Given the description of an element on the screen output the (x, y) to click on. 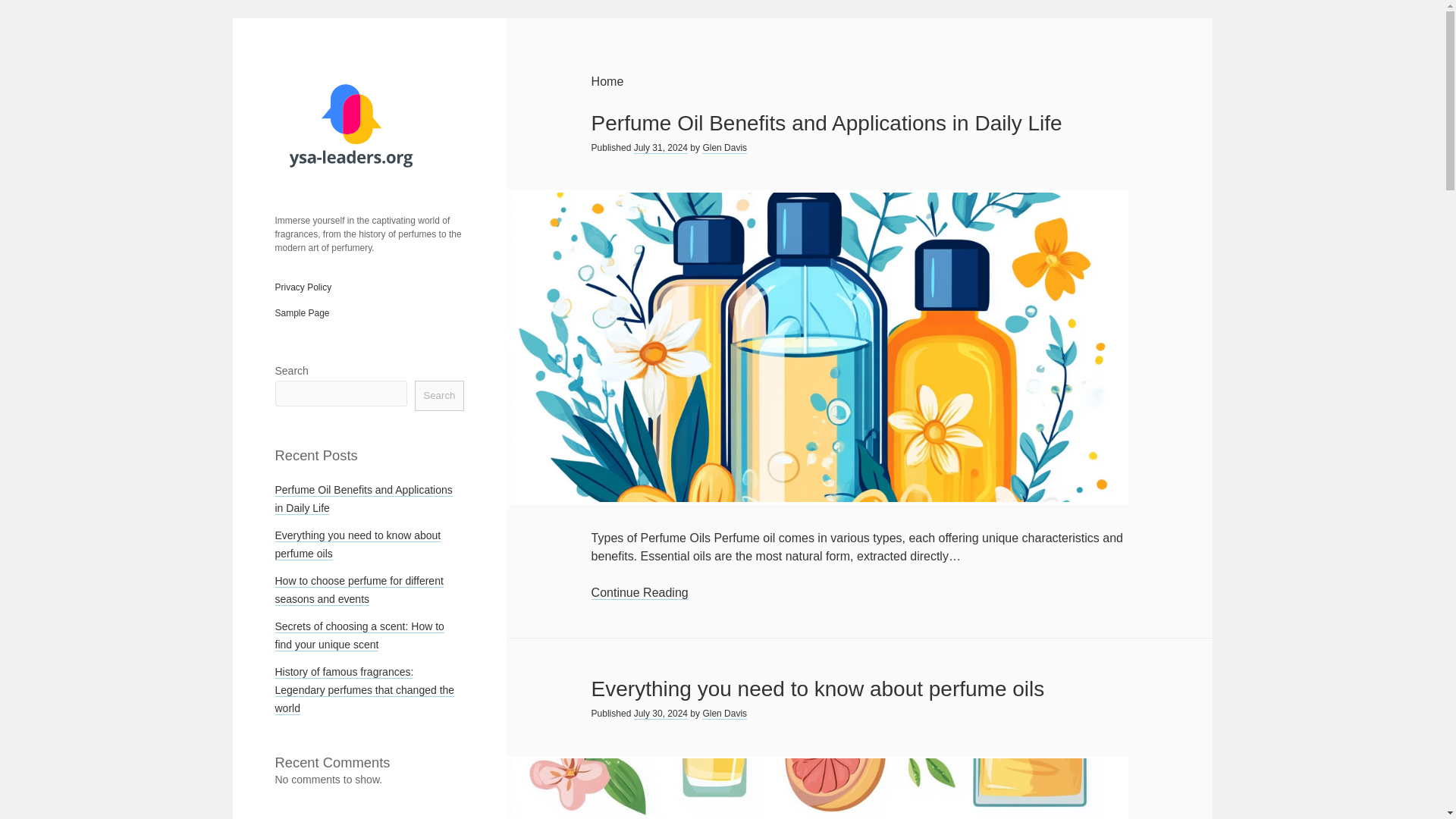
Privacy Policy (303, 287)
July 31, 2024 (660, 147)
Glen Davis (723, 713)
Glen Davis (723, 147)
Perfume Oil Benefits and Applications in Daily Life (363, 499)
Perfume Oil Benefits and Applications in Daily Life (826, 123)
Everything you need to know about perfume oils (358, 544)
Secrets of choosing a scent: How to find your unique scent (359, 635)
